Given the description of an element on the screen output the (x, y) to click on. 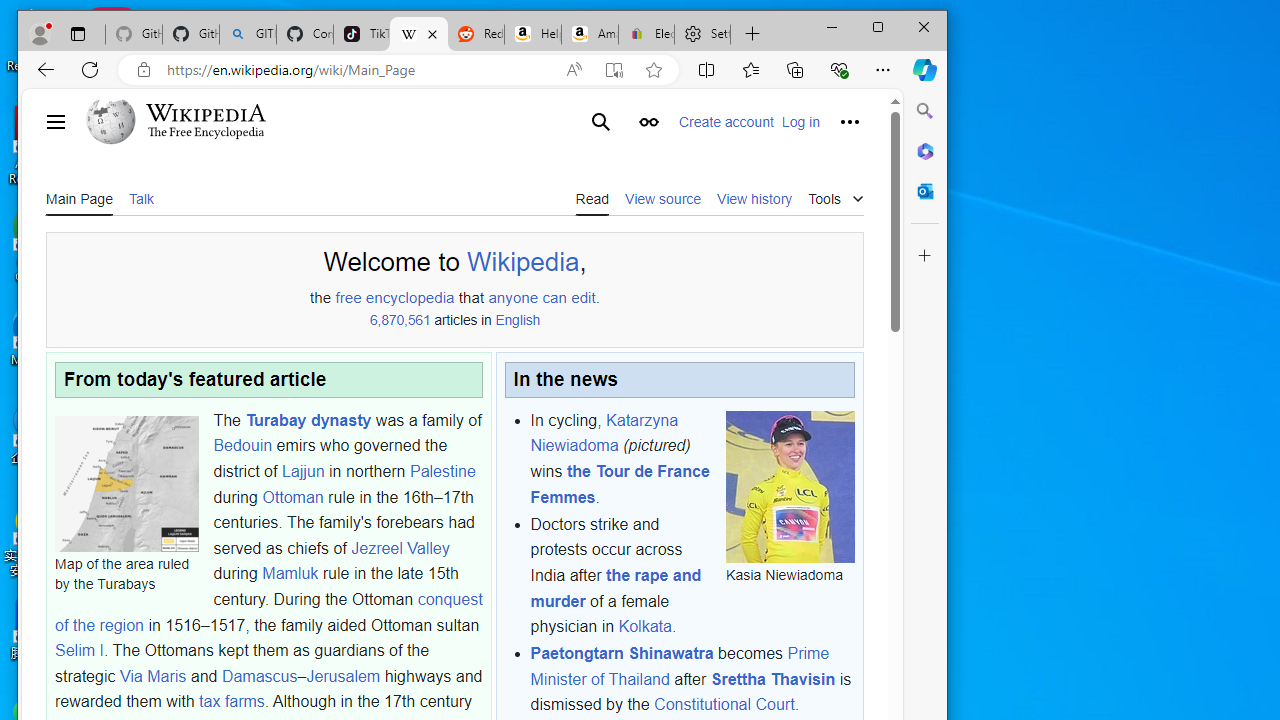
the Tour de France Femmes (619, 484)
Lajjun (303, 471)
English (518, 321)
Talk (140, 197)
View history (754, 197)
View source (662, 197)
Help & Contact Us - Amazon Customer Service (532, 34)
tax farms (231, 701)
conquest of the region (268, 611)
